Given the description of an element on the screen output the (x, y) to click on. 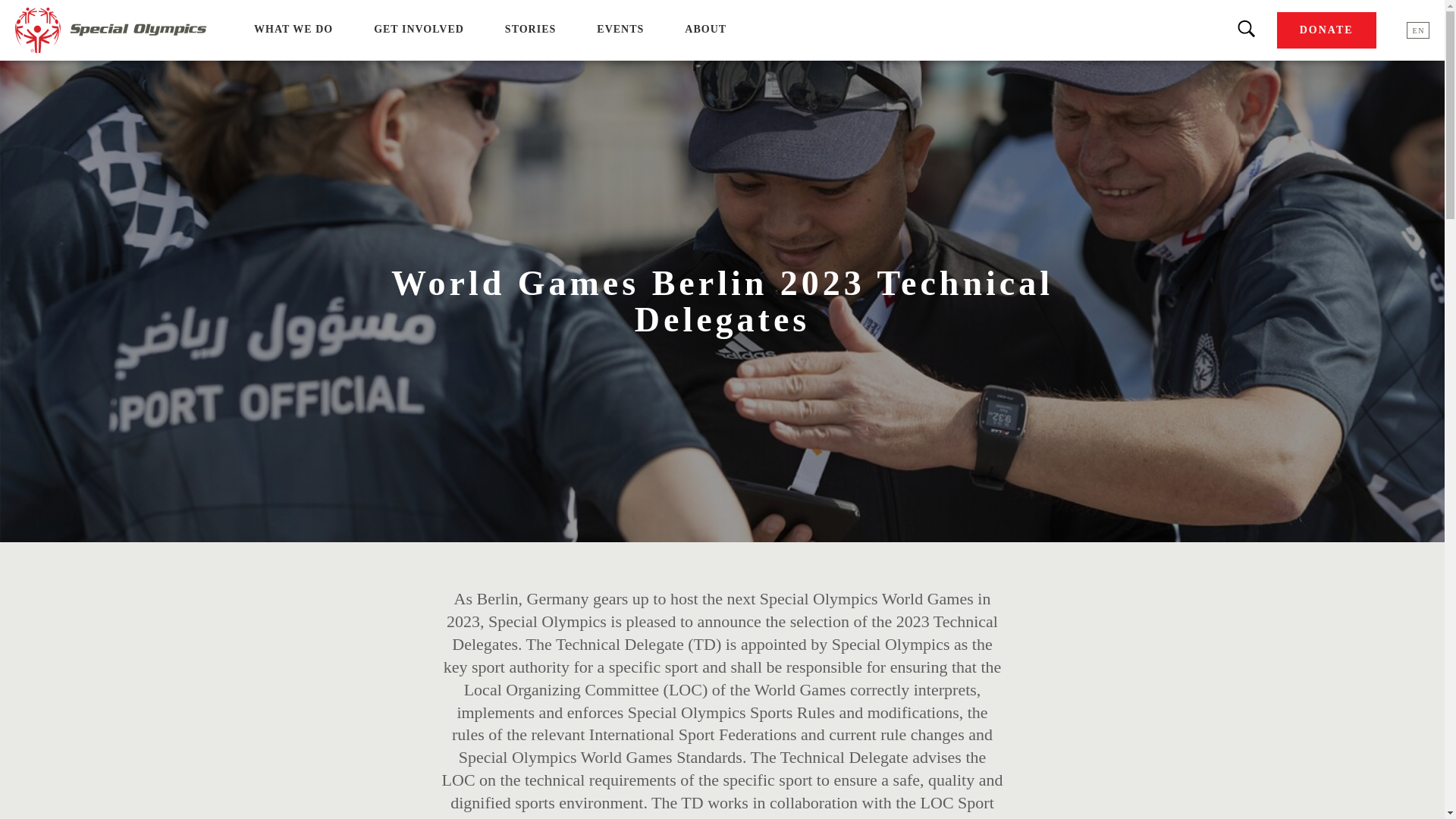
STORIES (530, 29)
EVENTS (619, 29)
WHAT WE DO (293, 29)
GET INVOLVED (419, 29)
